Given the description of an element on the screen output the (x, y) to click on. 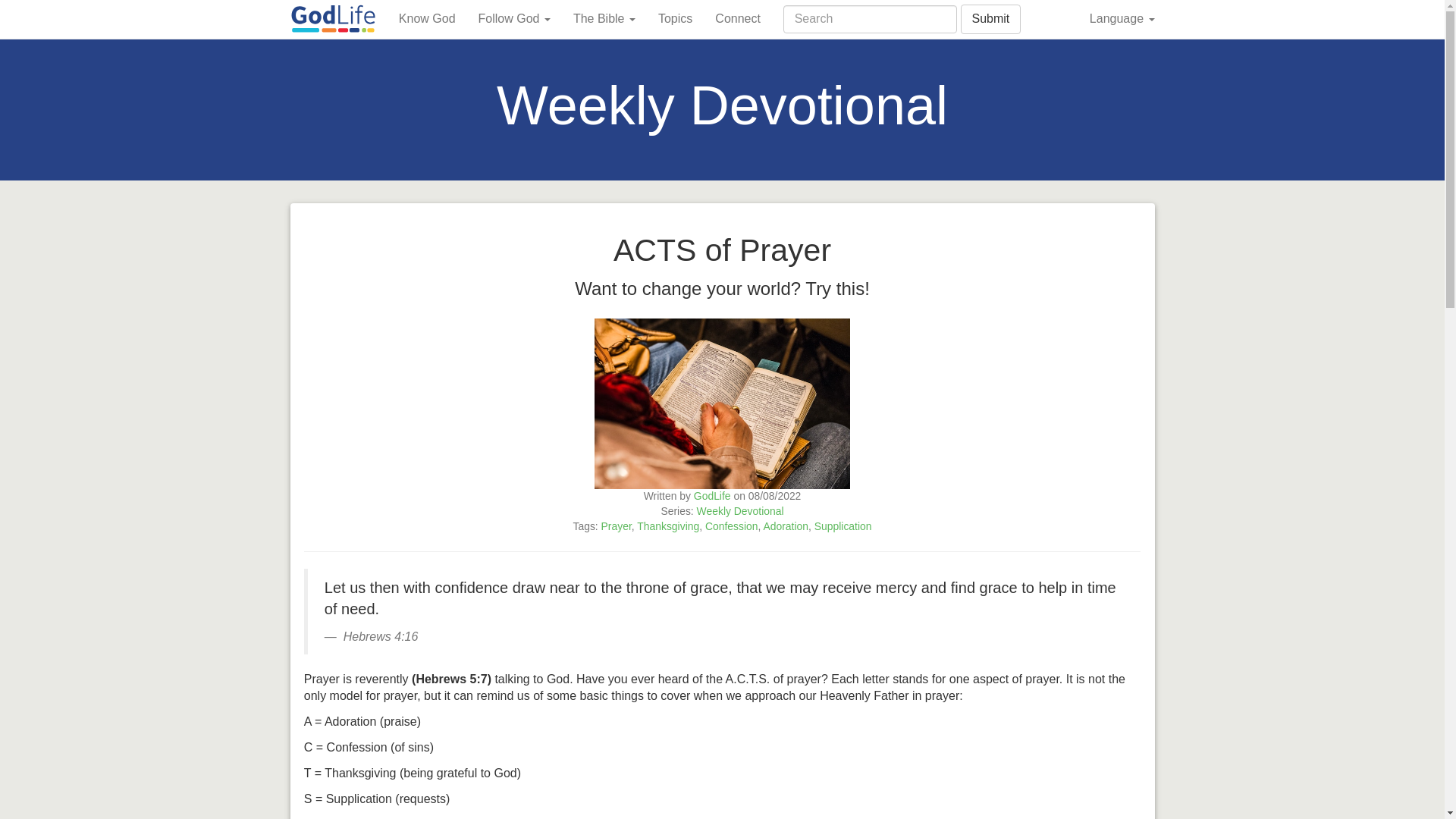
The Bible (604, 18)
Connect (737, 18)
Follow God (514, 18)
Topics (674, 18)
Confession (731, 526)
Weekly Devotional (740, 510)
Submit (990, 19)
Supplication (842, 526)
Prayer (616, 526)
Language (1122, 18)
